Given the description of an element on the screen output the (x, y) to click on. 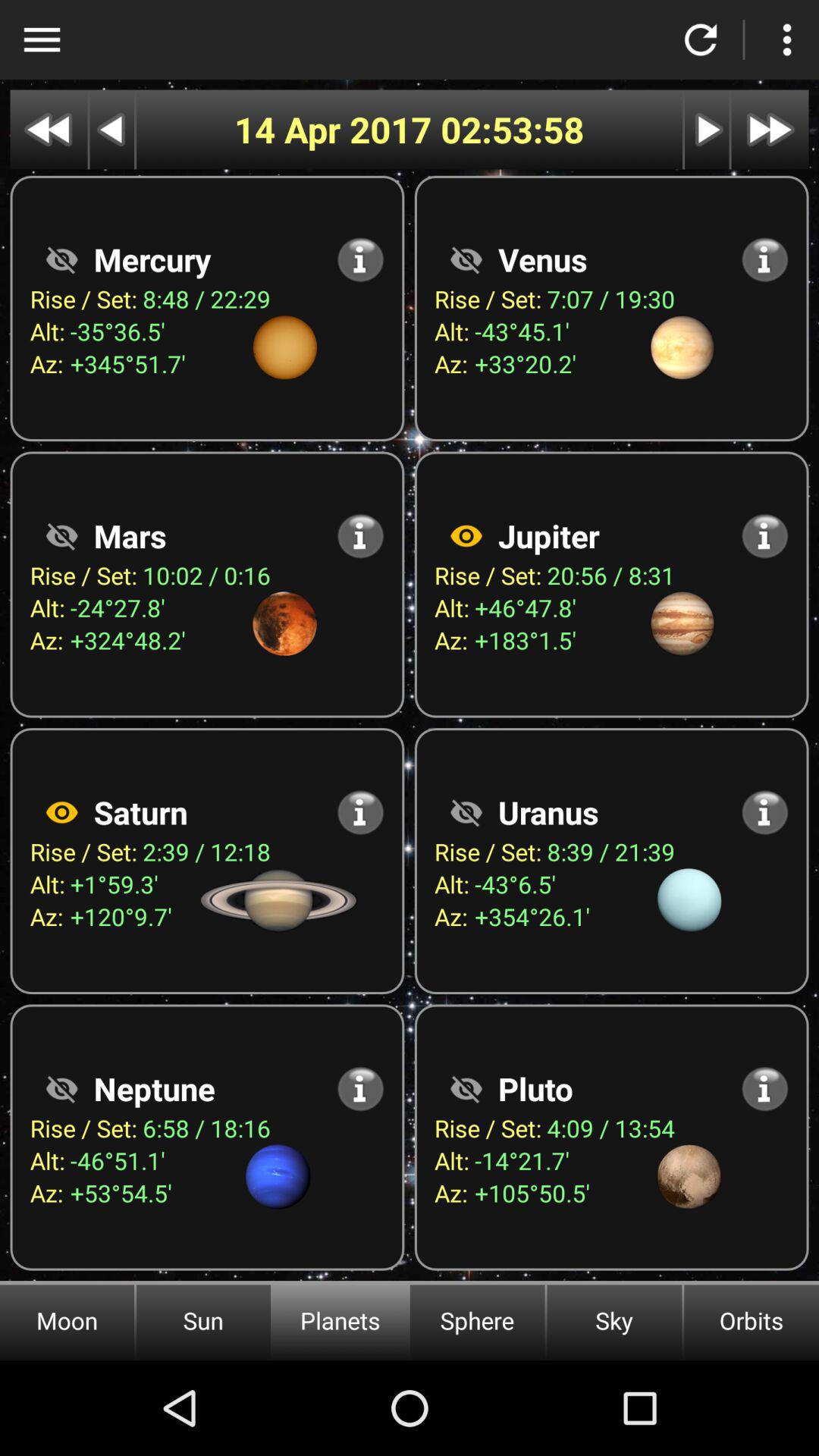
tap for information on neptune (360, 1088)
